Given the description of an element on the screen output the (x, y) to click on. 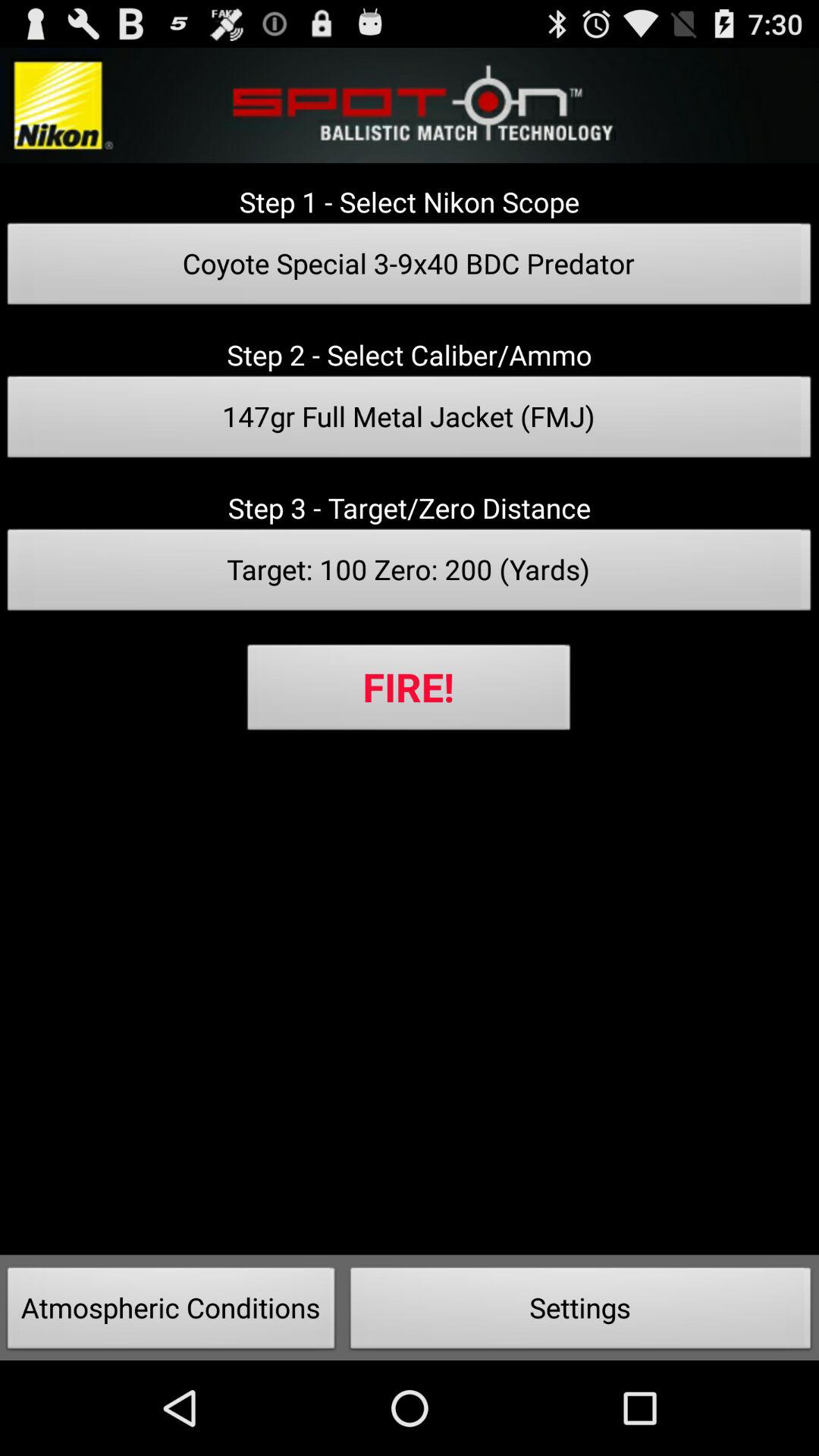
launch the icon below the step 3 target app (409, 574)
